Given the description of an element on the screen output the (x, y) to click on. 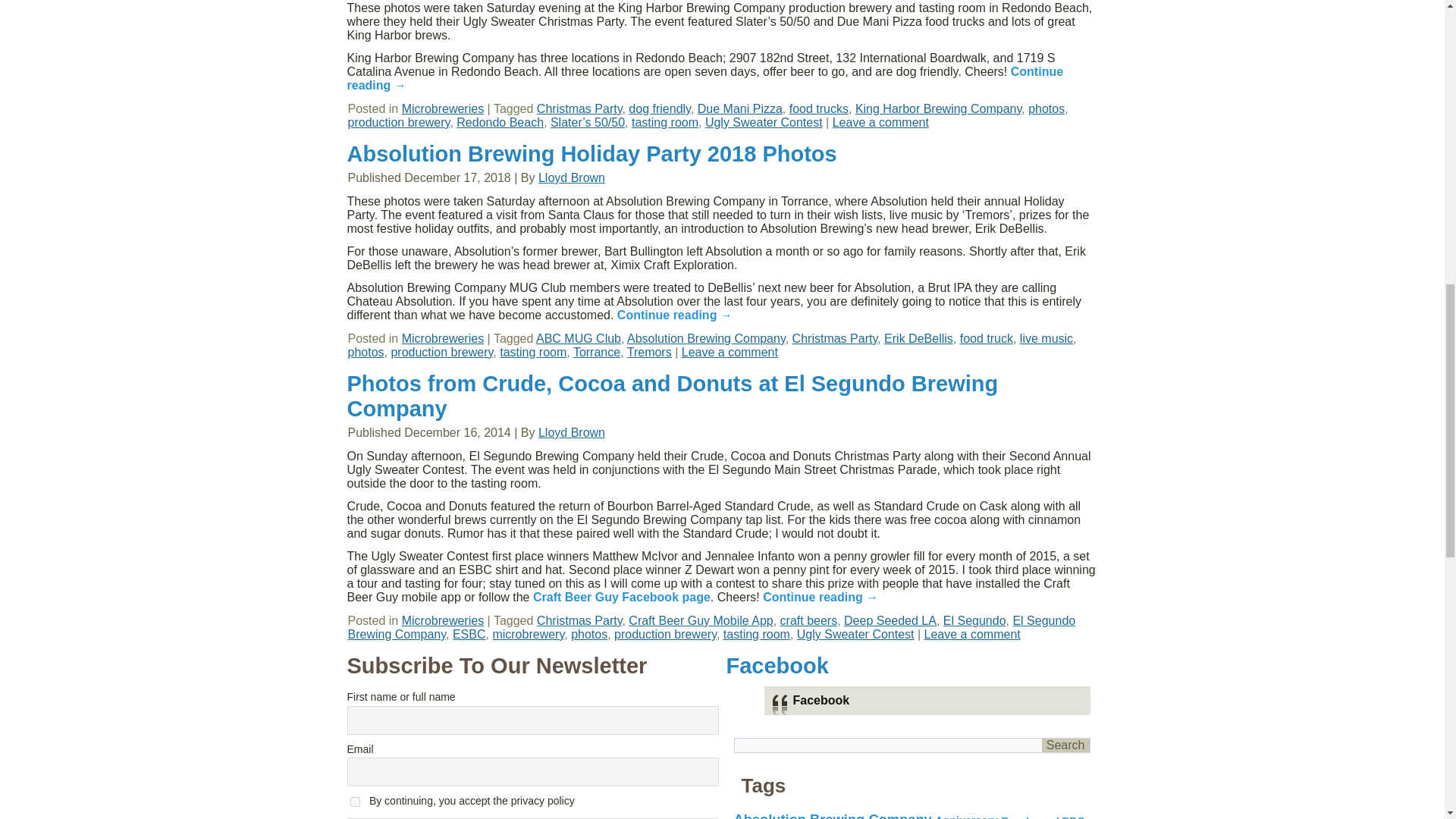
Search (1065, 745)
on (354, 801)
Search (1065, 745)
